Given the description of an element on the screen output the (x, y) to click on. 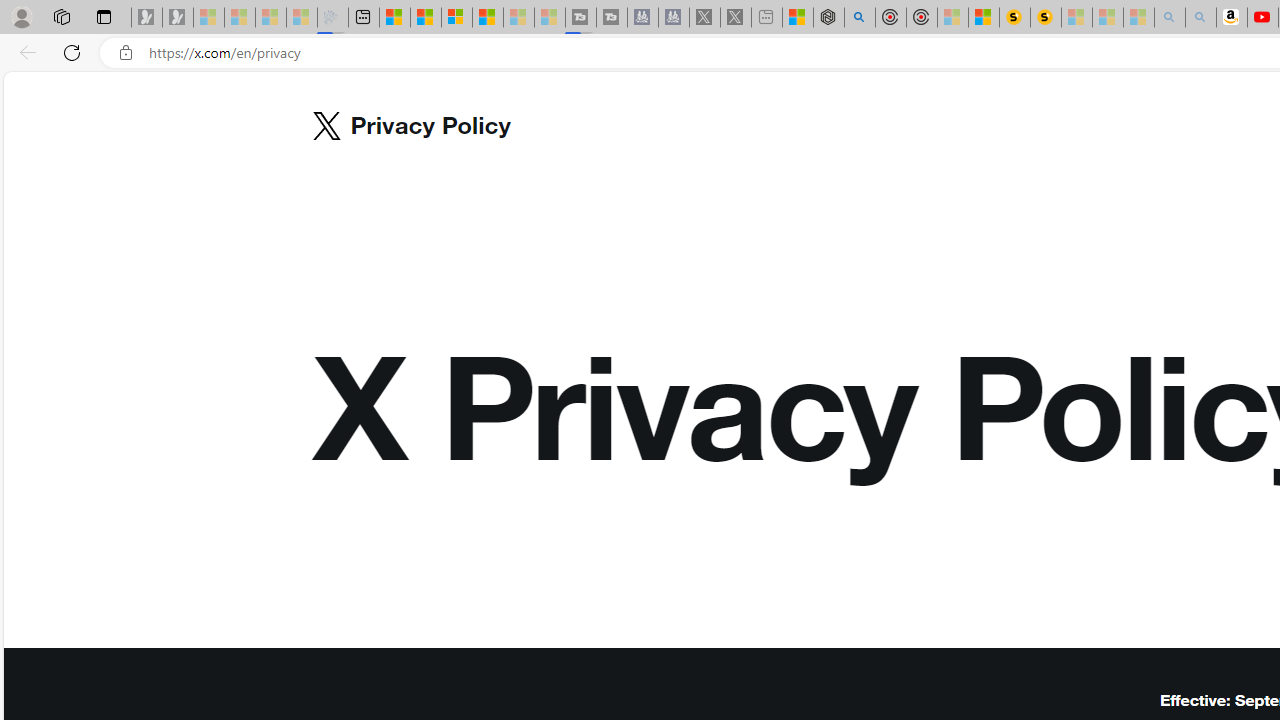
Amazon Echo Dot PNG - Search Images - Sleeping (1200, 17)
Microsoft Start - Sleeping (518, 17)
